Given the description of an element on the screen output the (x, y) to click on. 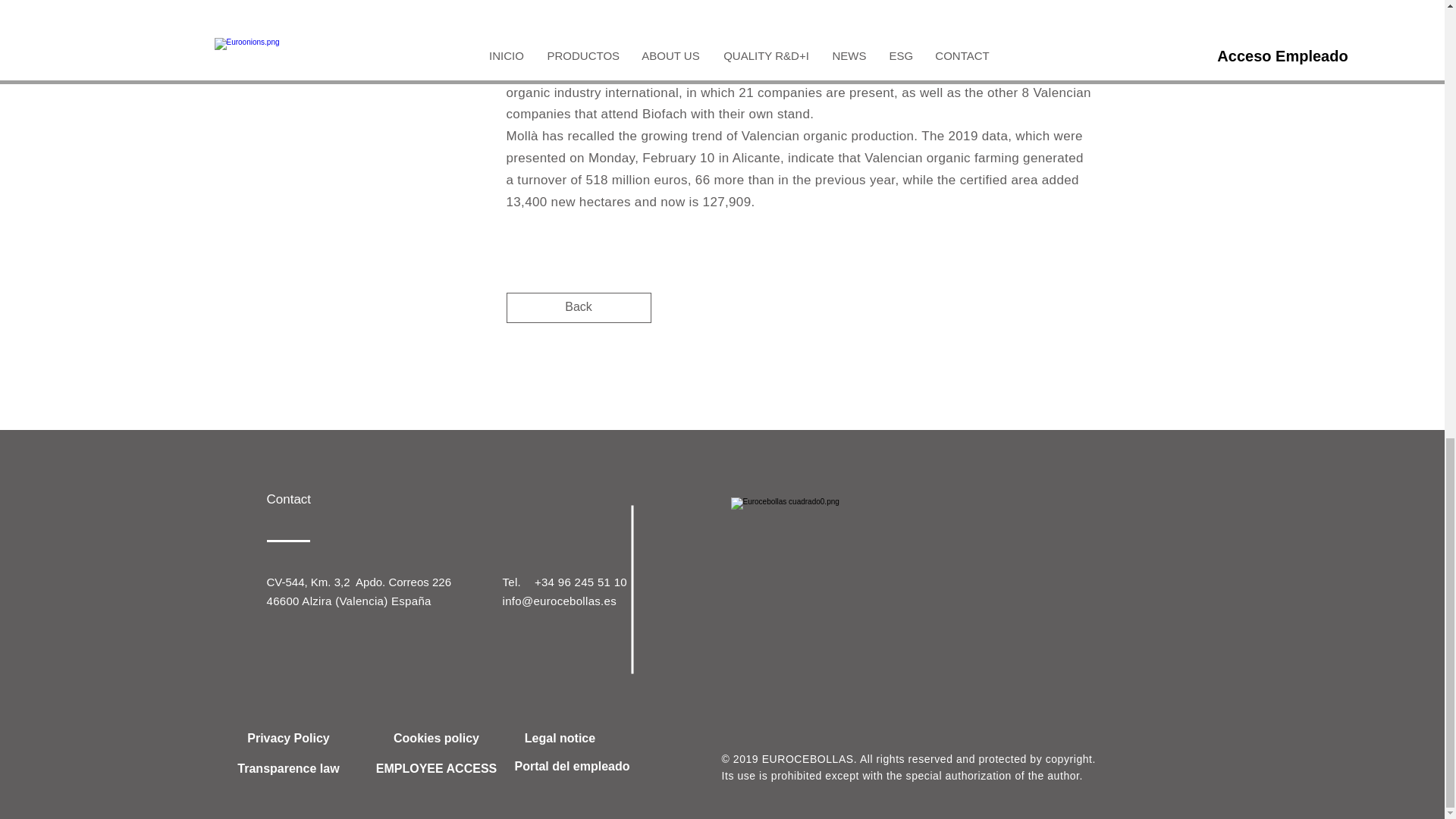
Transparence law (288, 769)
Back (578, 307)
EMPLOYEE ACCESS (435, 769)
Legal notice (559, 738)
Privacy Policy (288, 738)
Cookies policy (435, 738)
Portal del empleado (572, 767)
